Given the description of an element on the screen output the (x, y) to click on. 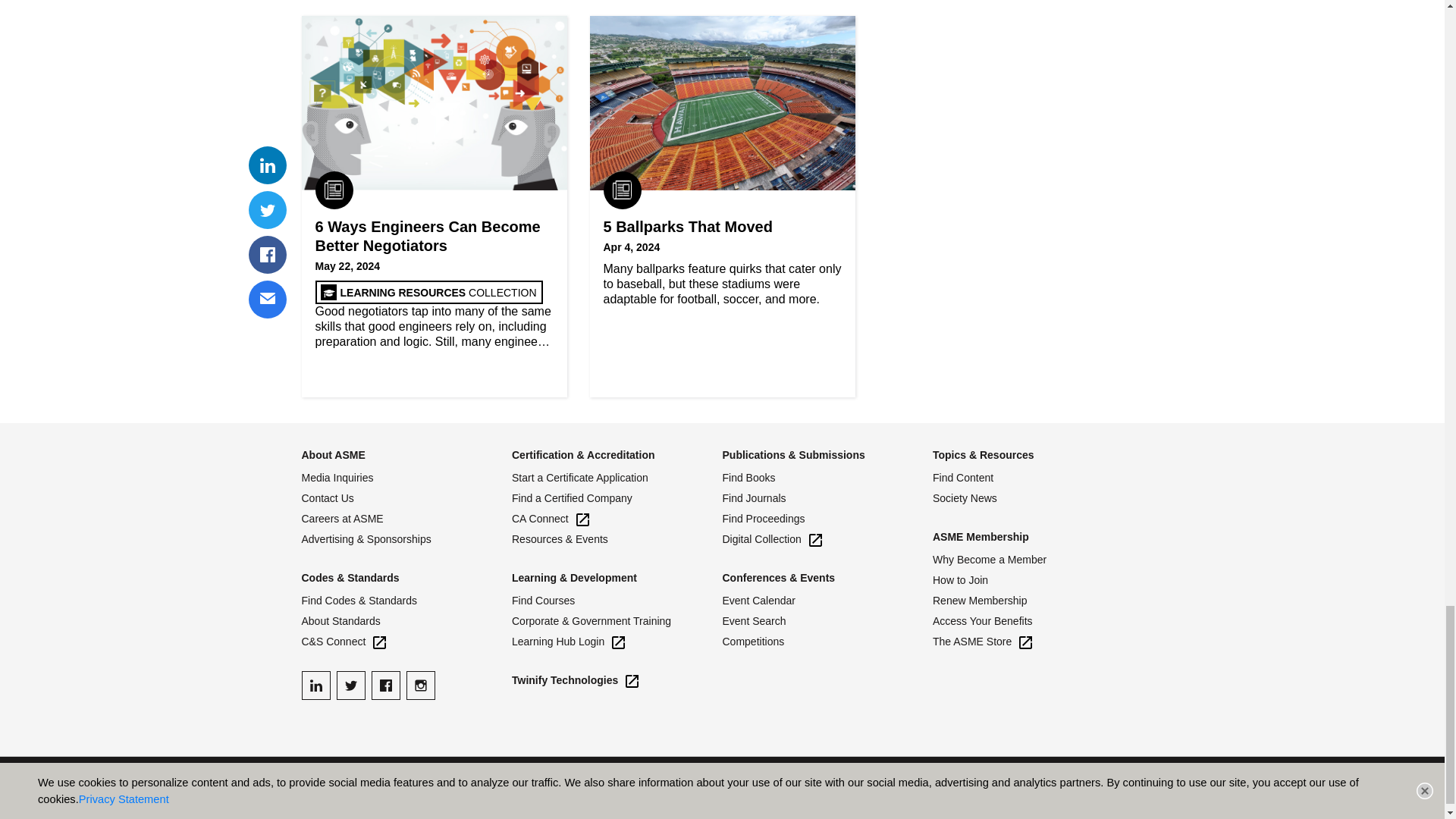
ASME on Facebook (385, 685)
ASME on LinkedIn (315, 685)
ASME on Instagram (420, 685)
ASME on Twitter (350, 685)
